Given the description of an element on the screen output the (x, y) to click on. 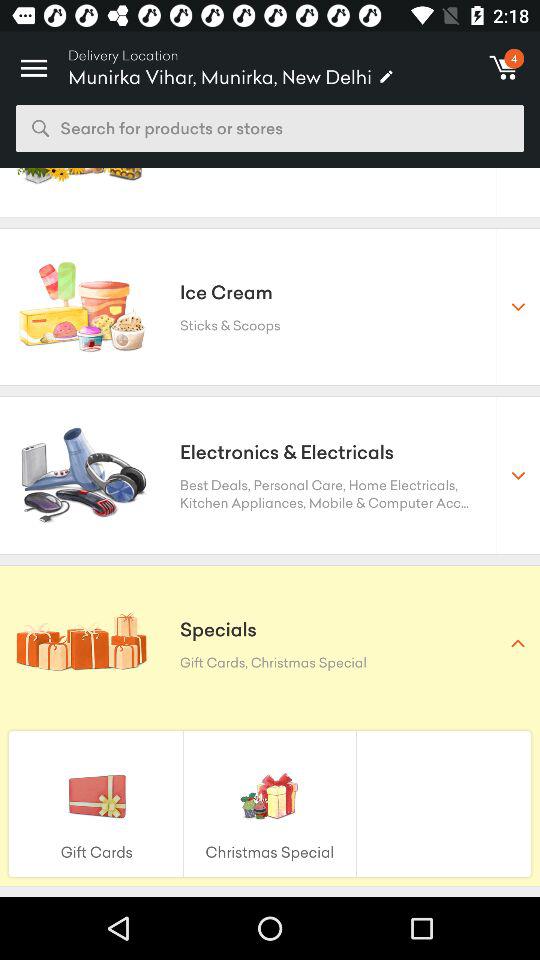
click item above the search for products (33, 62)
